Given the description of an element on the screen output the (x, y) to click on. 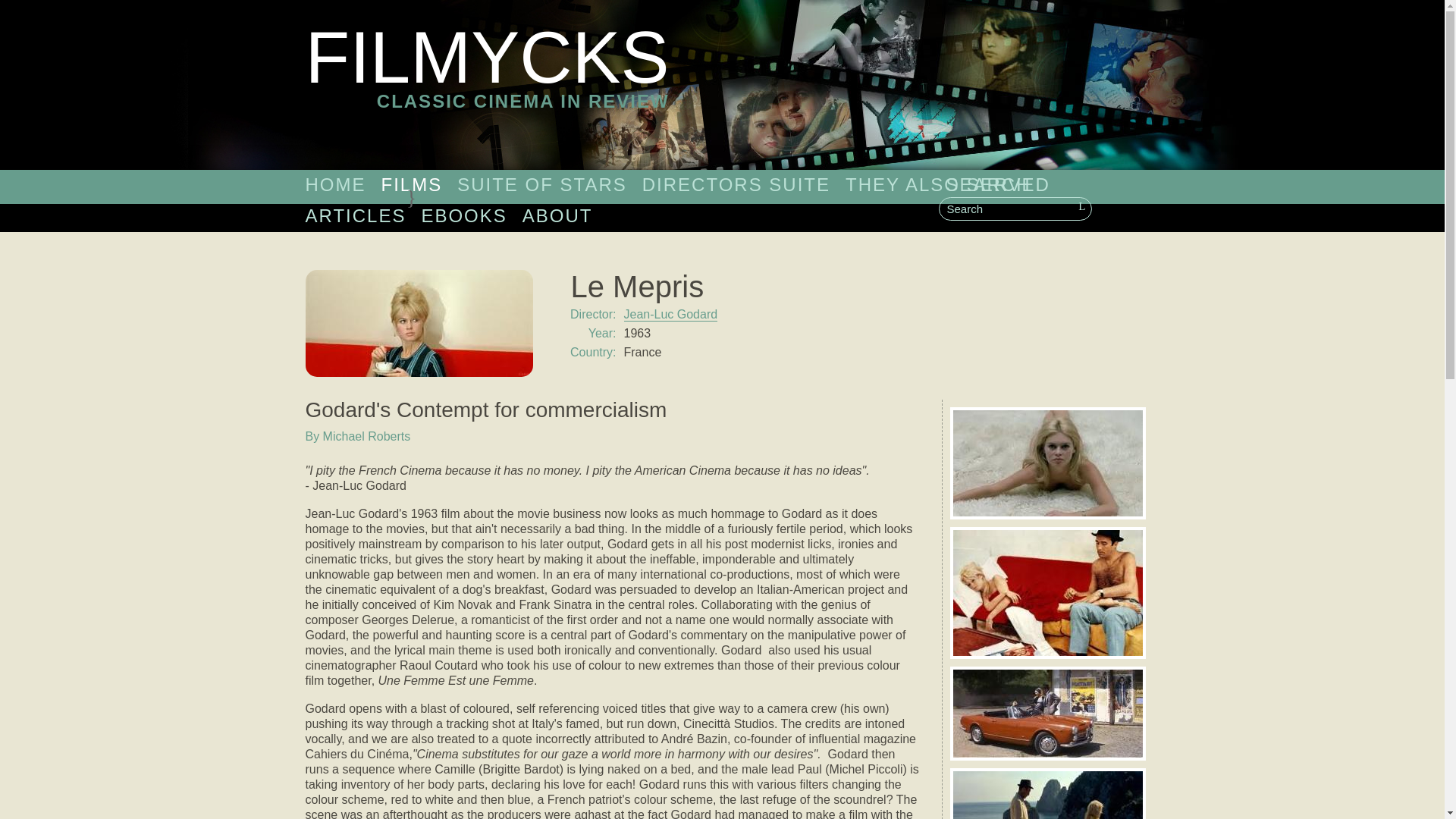
SUITE OF STARS (542, 184)
Home (334, 184)
Jean-Luc Godard (670, 314)
eBooks (463, 215)
Search (1015, 208)
They Also Served (947, 184)
Films (411, 184)
DIRECTORS SUITE (735, 184)
Directors Suite (735, 184)
EBOOKS (463, 215)
